Given the description of an element on the screen output the (x, y) to click on. 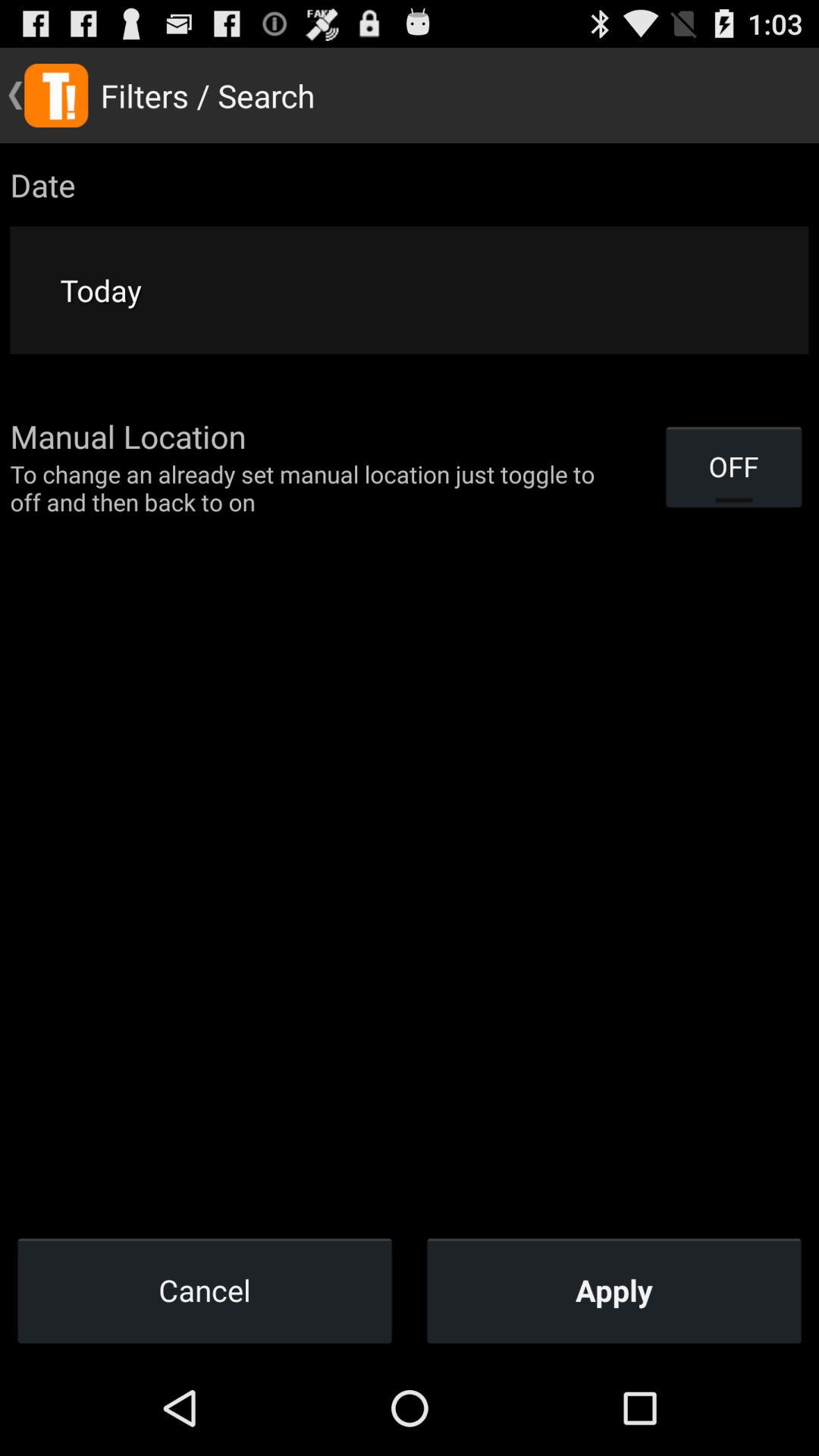
choose item below to change an item (613, 1290)
